Given the description of an element on the screen output the (x, y) to click on. 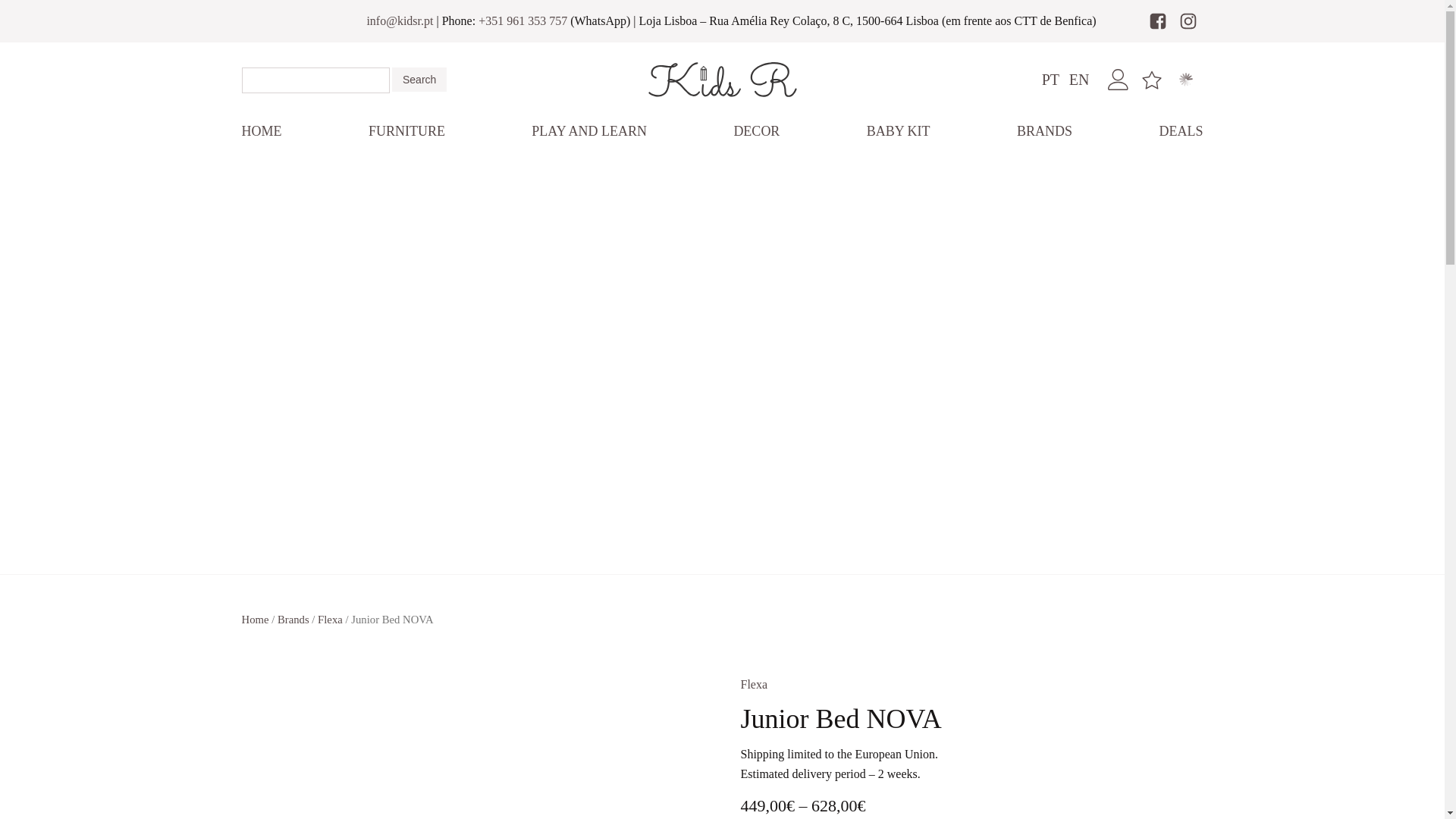
HOME (261, 131)
BRANDS (1044, 131)
BABY KIT (898, 131)
Search (418, 79)
DEALS (1180, 131)
FURNITURE (406, 131)
DECOR (756, 131)
PLAY AND LEARN (589, 131)
Search (418, 79)
EN (1078, 79)
EN (1078, 79)
